Given the description of an element on the screen output the (x, y) to click on. 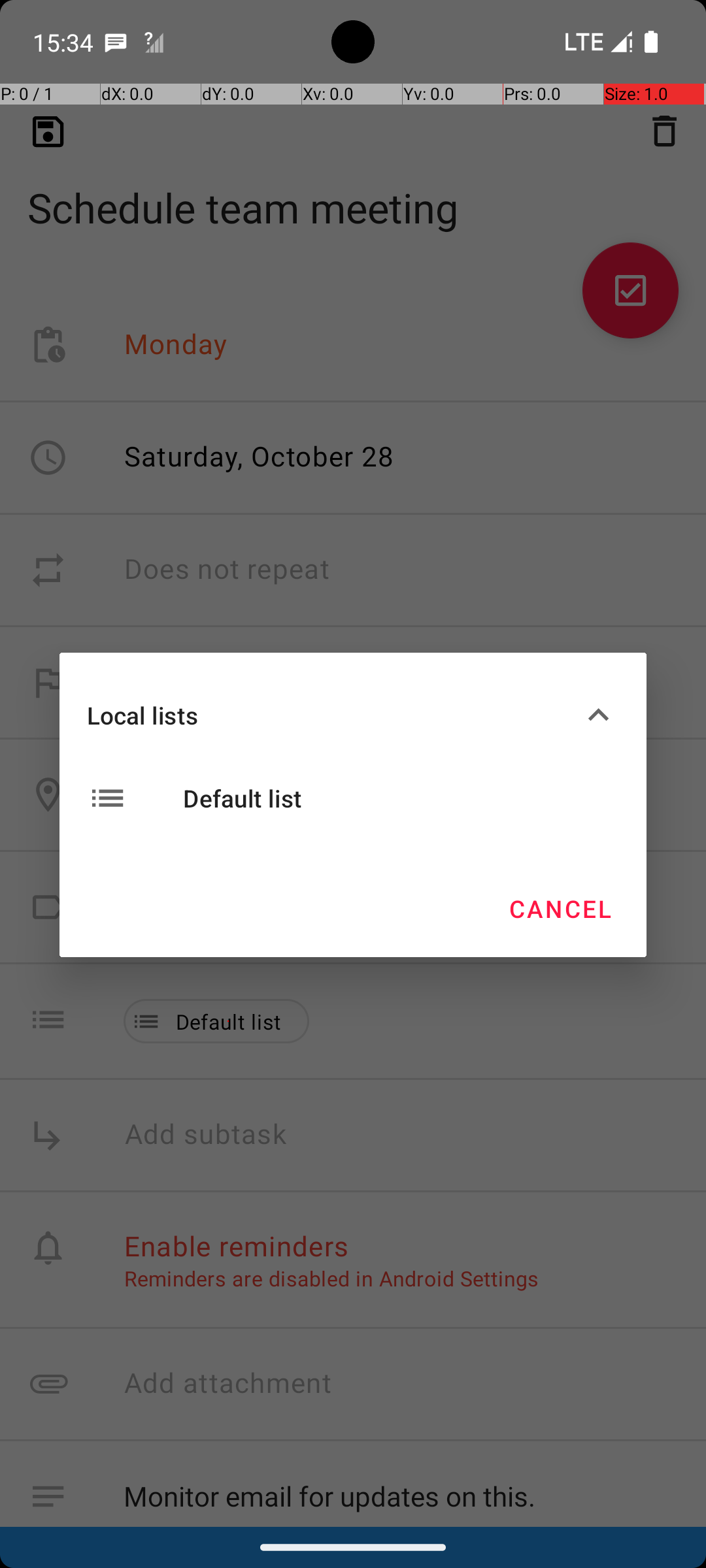
Local lists Element type: android.widget.TextView (331, 715)
